Given the description of an element on the screen output the (x, y) to click on. 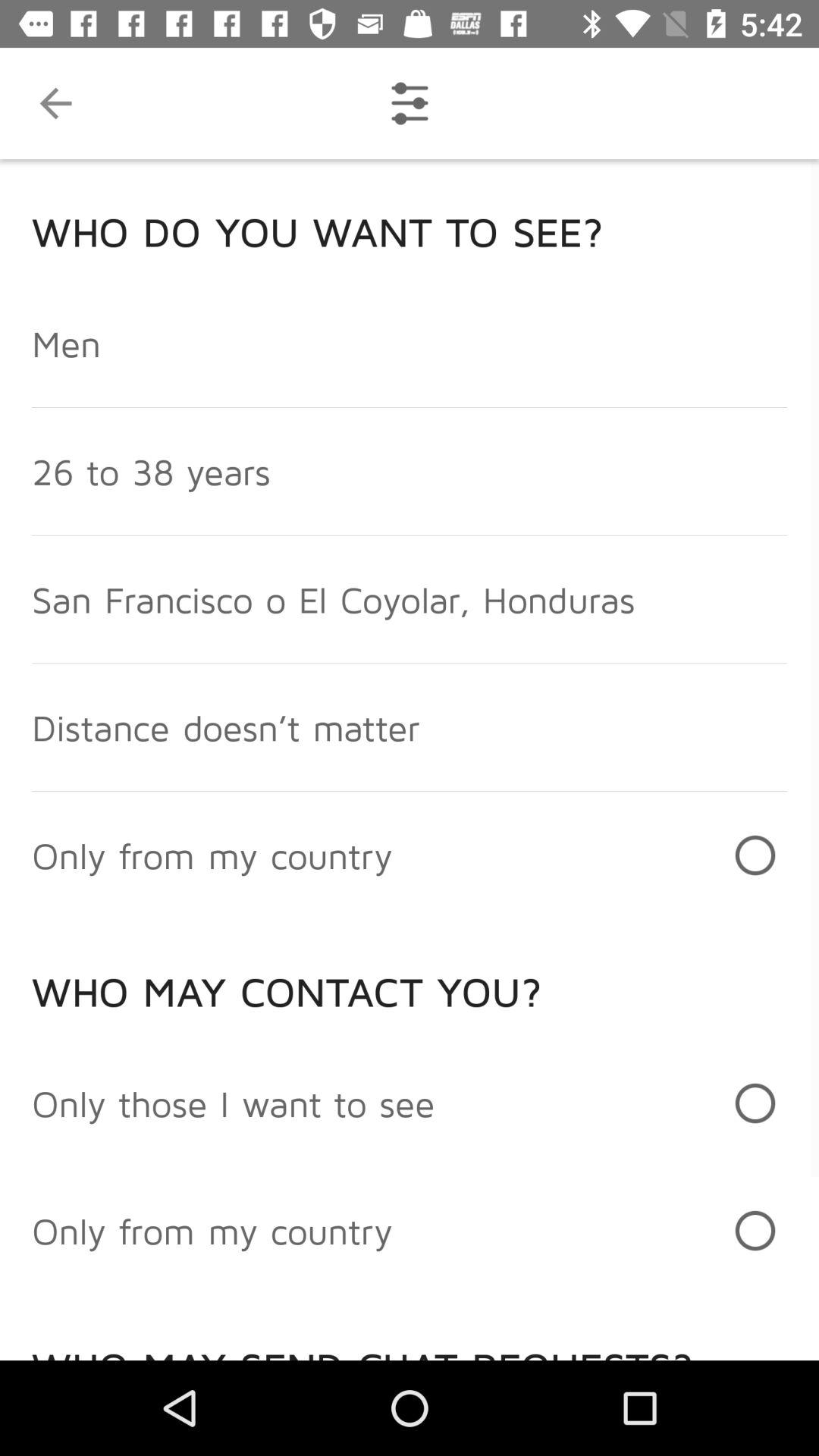
press the item below who may contact (233, 1102)
